Given the description of an element on the screen output the (x, y) to click on. 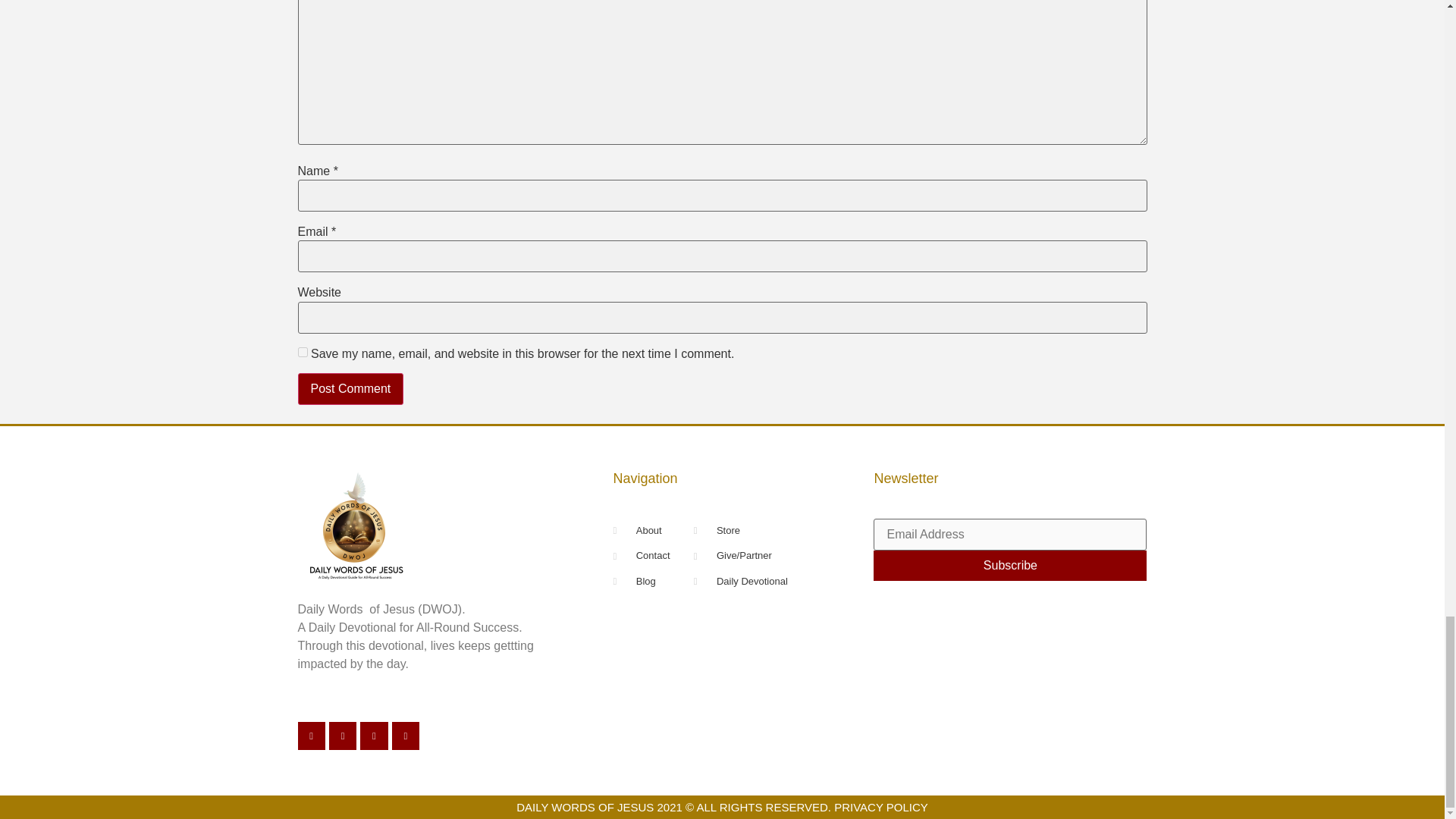
yes (302, 352)
Post Comment (350, 388)
Subscribe (1010, 565)
